Given the description of an element on the screen output the (x, y) to click on. 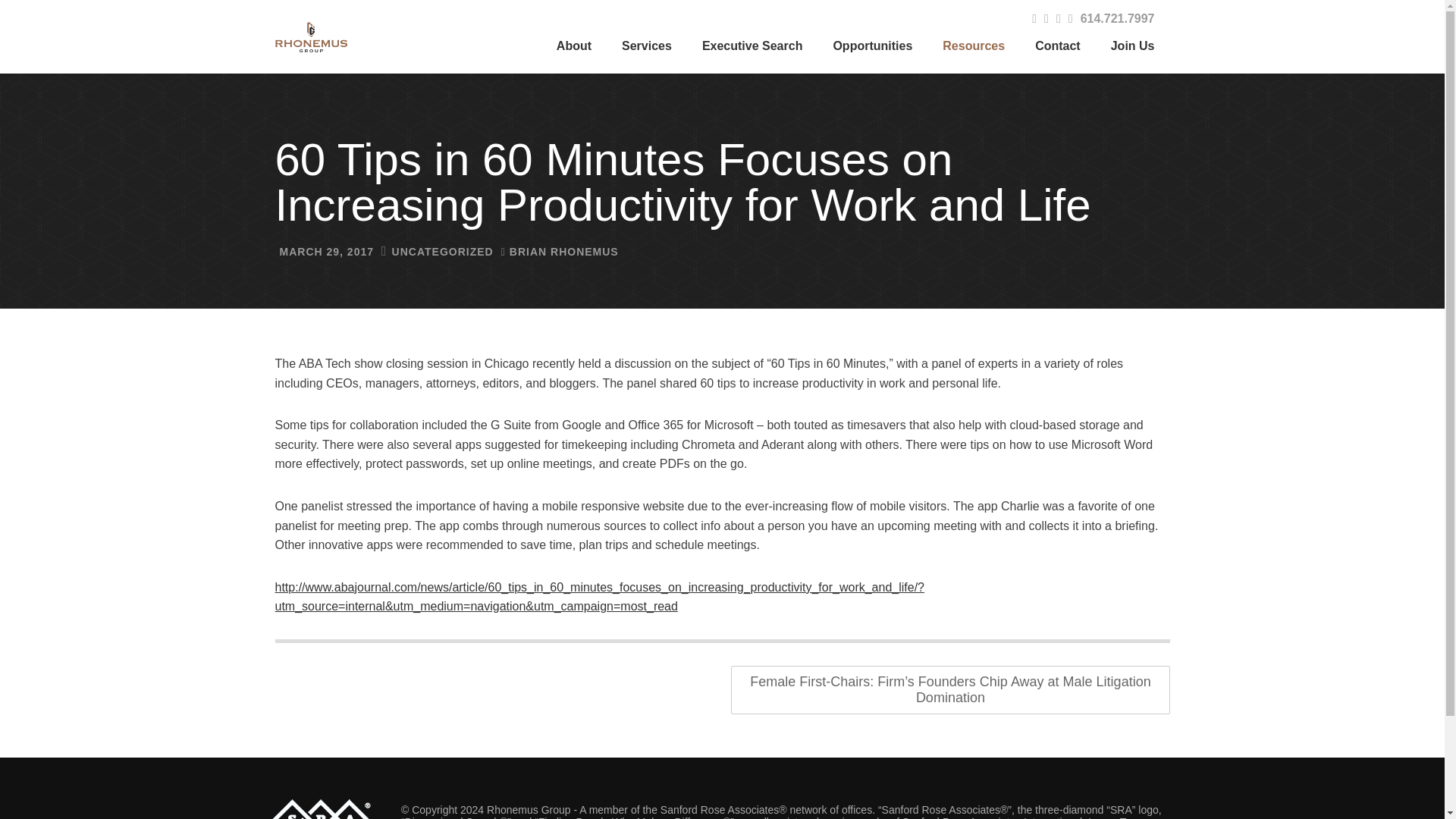
Join Us (1133, 45)
614.721.7997 (1123, 18)
About (574, 45)
Services (647, 45)
UNCATEGORIZED (442, 251)
Contact (1058, 45)
Executive Search (752, 45)
Opportunities (871, 45)
Resources (973, 45)
